Given the description of an element on the screen output the (x, y) to click on. 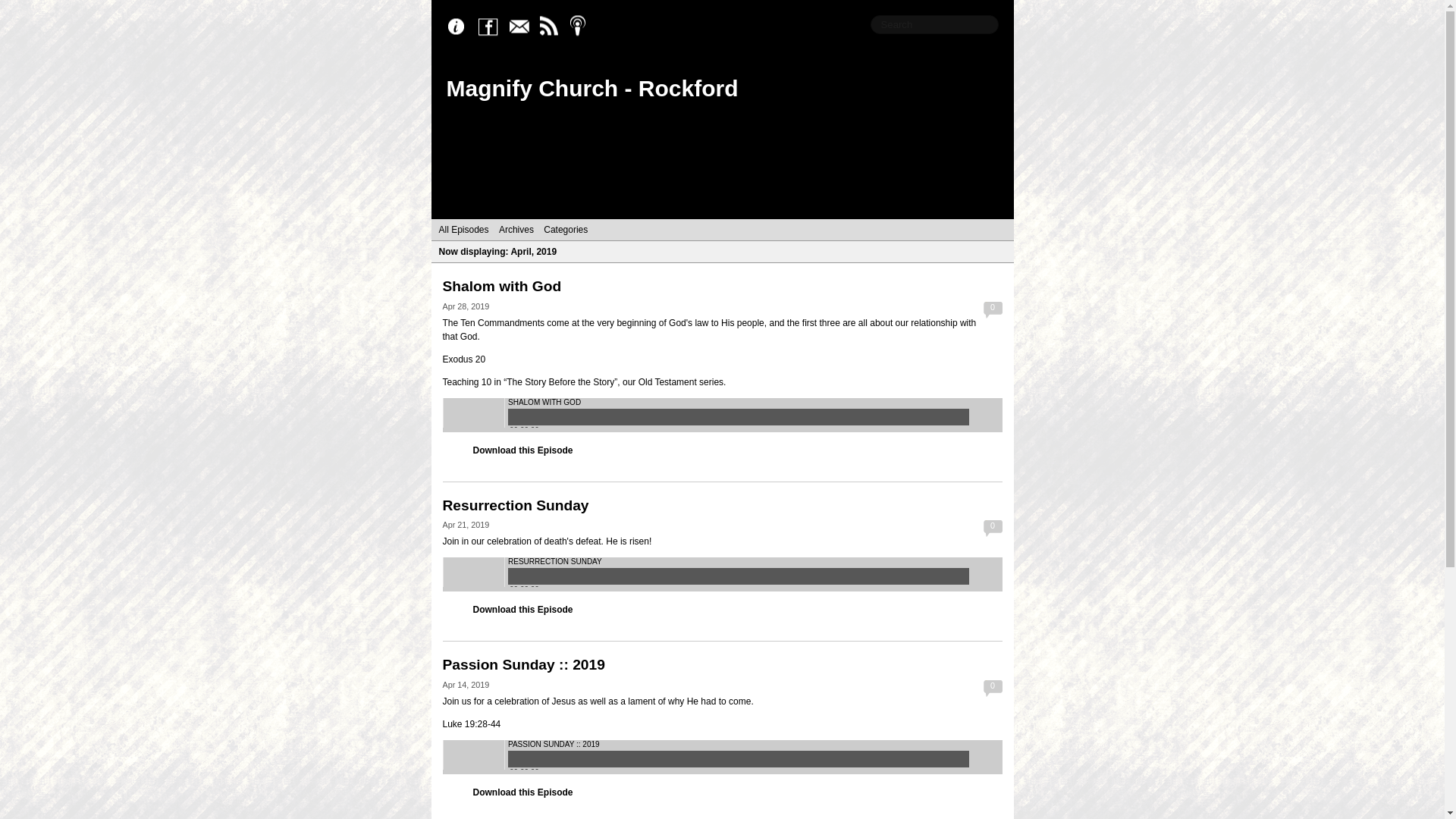
Libsyn Player (722, 415)
Subscribe in Apple Podcasts (581, 26)
Email (521, 26)
Libsyn Player (722, 756)
Libsyn Player (722, 574)
Facebook (491, 26)
Magnify Church - Rockford (591, 88)
RSS Feed (552, 26)
